Given the description of an element on the screen output the (x, y) to click on. 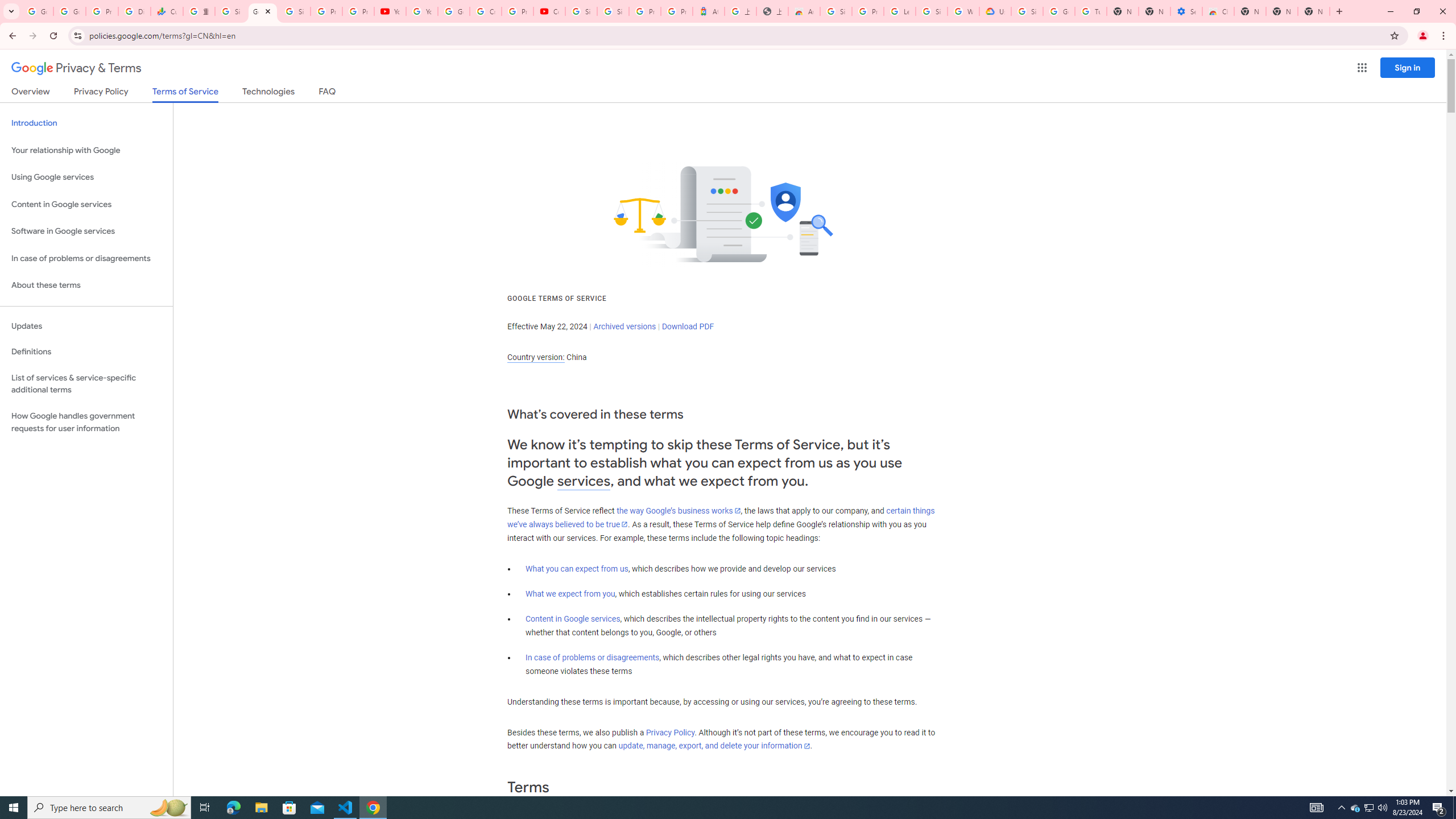
Google Account Help (1059, 11)
FAQ (327, 93)
Updates (86, 325)
Atour Hotel - Google hotels (708, 11)
What you can expect from us (576, 568)
Software in Google services (86, 230)
Content Creator Programs & Opportunities - YouTube Creators (549, 11)
Download PDF (687, 326)
Sign in - Google Accounts (931, 11)
